Given the description of an element on the screen output the (x, y) to click on. 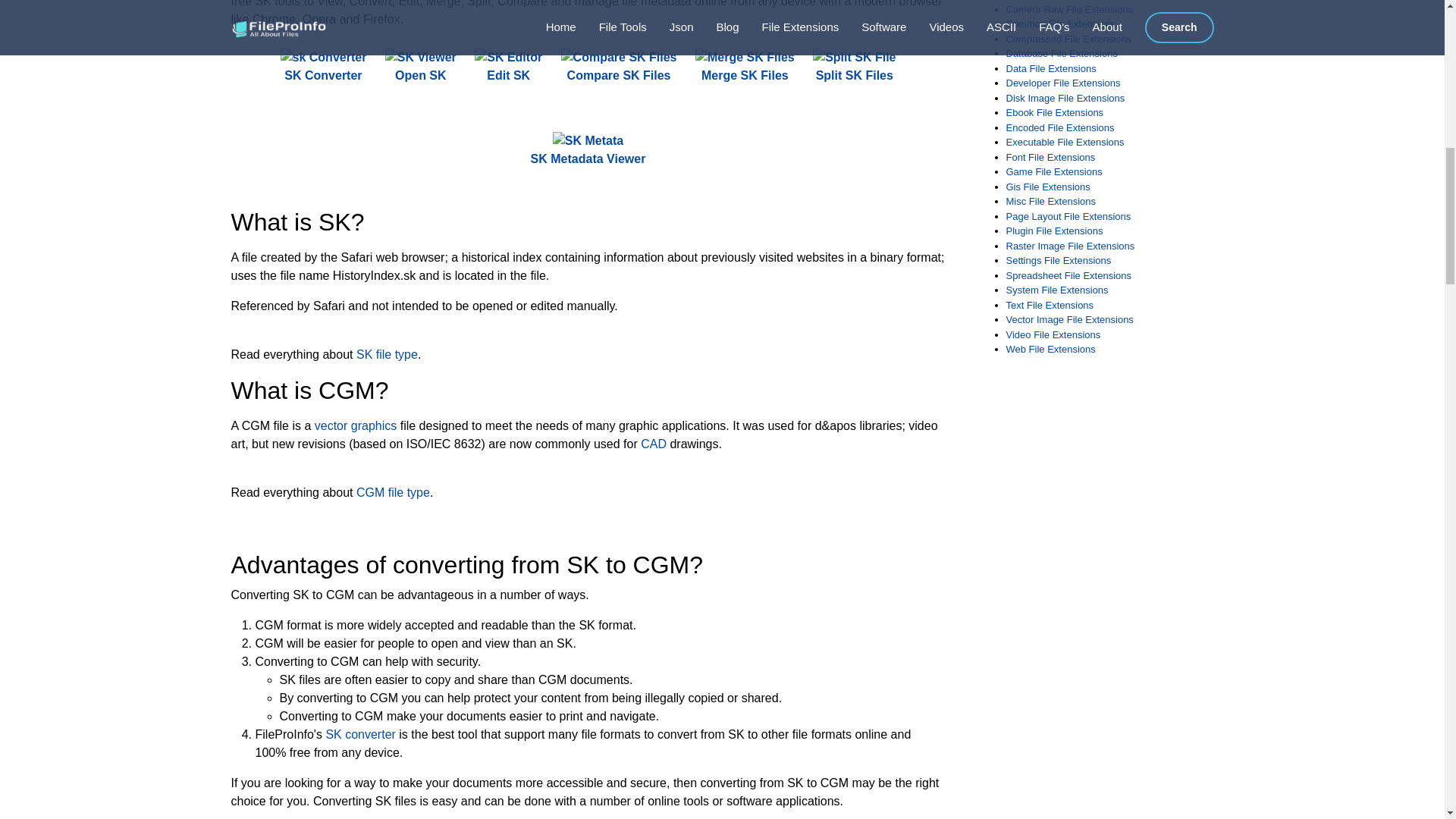
CGM file type (392, 492)
CAD (653, 443)
SK file type (386, 354)
SK Converter (323, 66)
SK Converter. (323, 66)
SK converter (359, 734)
Open SK (421, 66)
Edit SK (507, 66)
Compare SK Files (618, 66)
sk Converter online free (323, 57)
